Given the description of an element on the screen output the (x, y) to click on. 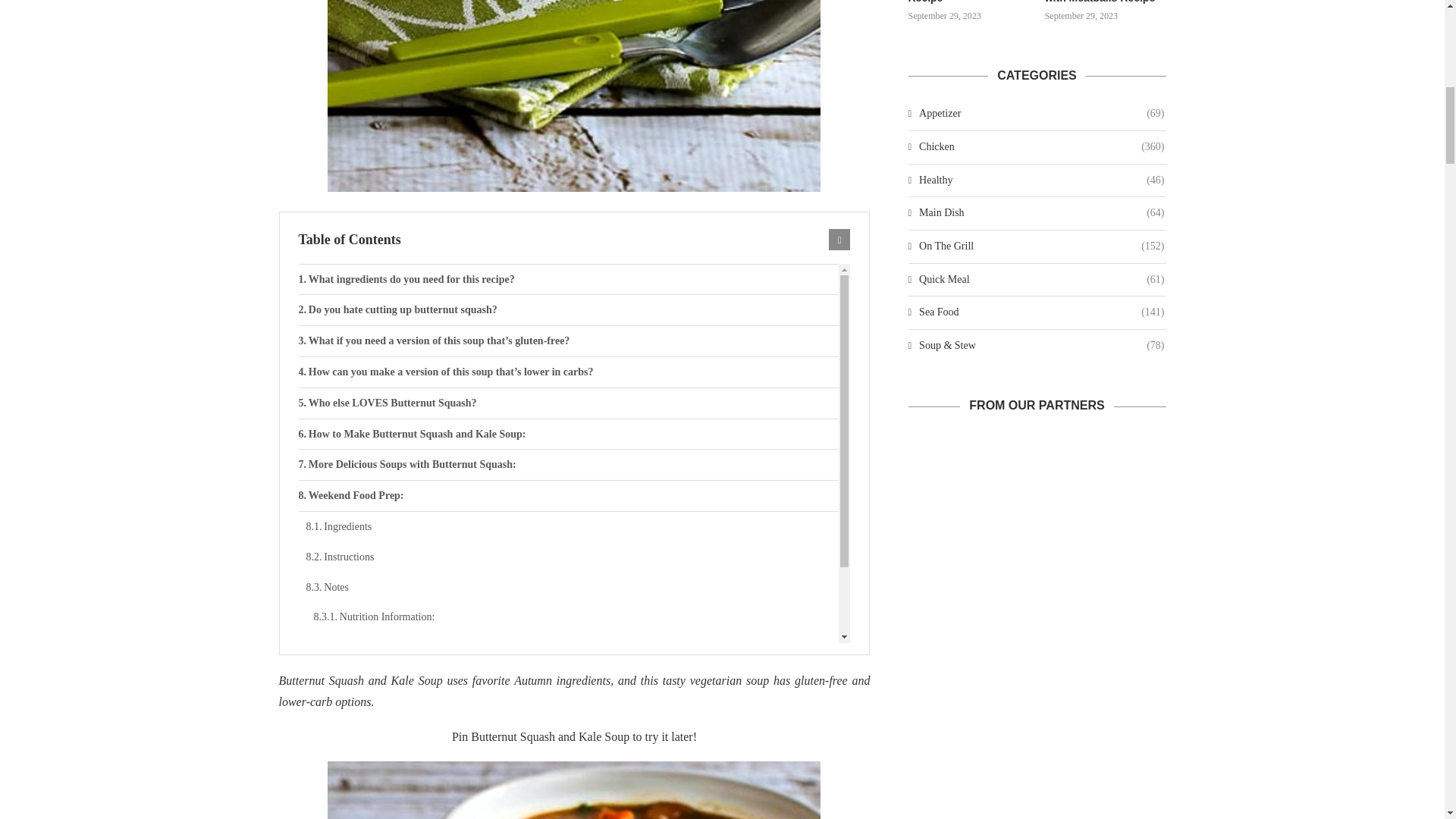
What ingredients do you need for this recipe? (569, 279)
Weekend Food Prep: (569, 495)
Instructions (572, 557)
Do you hate cutting up butternut squash? (569, 309)
How to Make Butternut Squash and Kale Soup: (569, 434)
Who else LOVES Butternut Squash? (569, 403)
1-650-autumn-harvest-soup.jpg (574, 95)
More Delicious Soups with Butternut Squash: (569, 464)
Ingredients (572, 526)
